Given the description of an element on the screen output the (x, y) to click on. 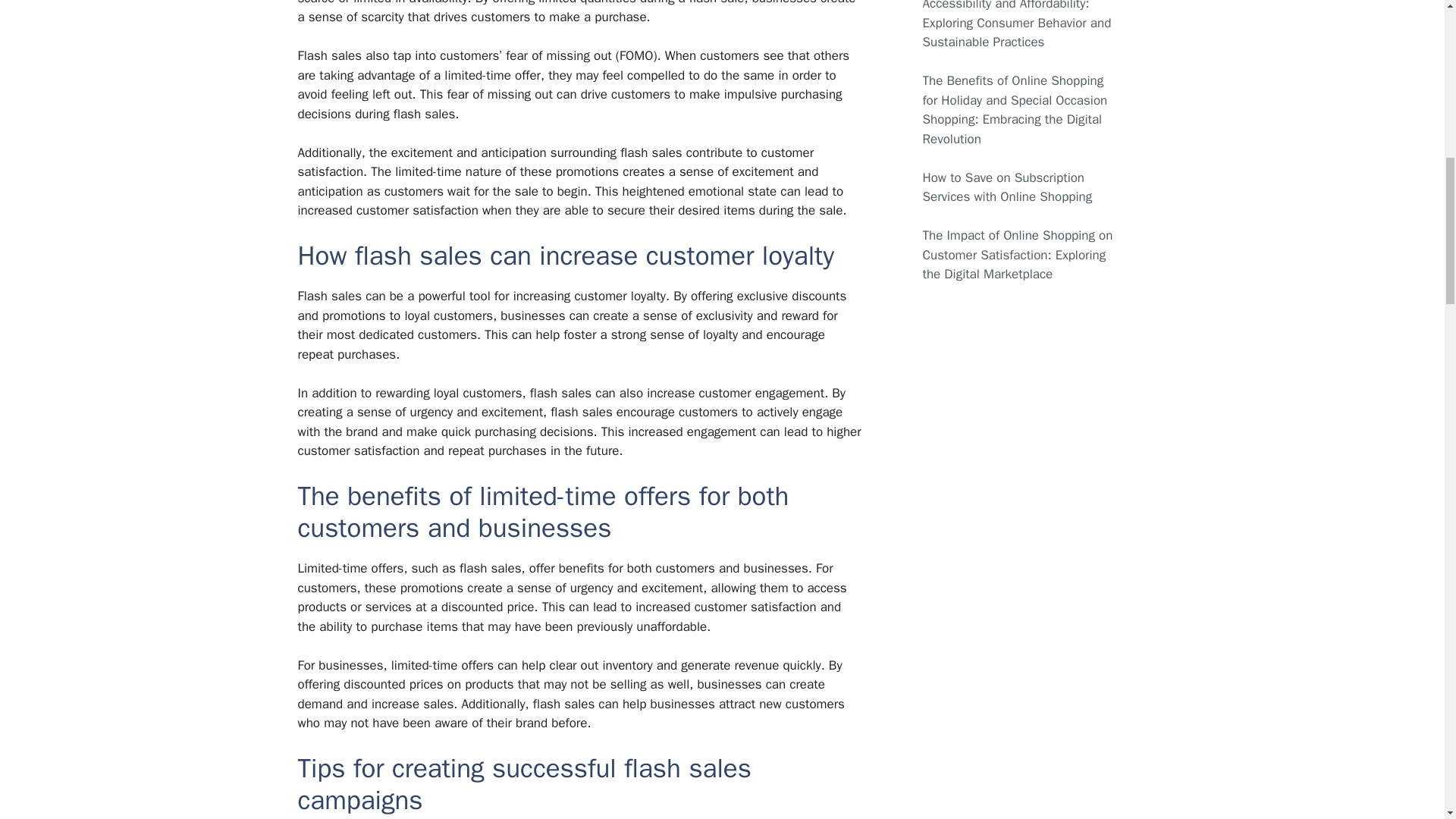
How to Save on Subscription Services with Online Shopping (1006, 187)
